Given the description of an element on the screen output the (x, y) to click on. 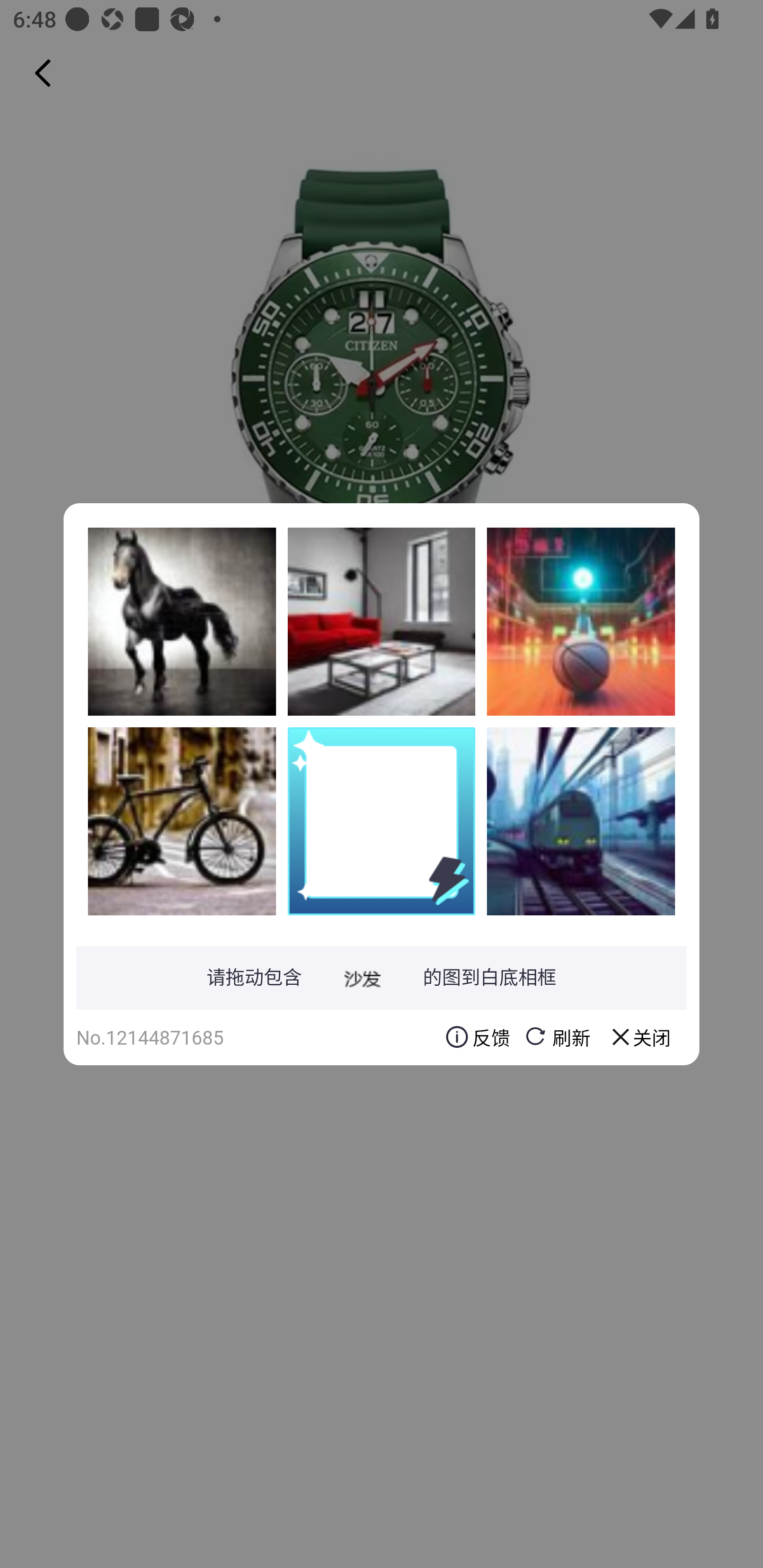
hFHD7iM9oE927H7h41sG+yxJqs0TSomio (181, 621)
MnoxONo (580, 621)
WL0mXXhvC5uIIVuT5sX91Oreat3G3tYprDe (181, 820)
YUNZJMLaDLzqcDJ60+A6 (580, 820)
